Given the description of an element on the screen output the (x, y) to click on. 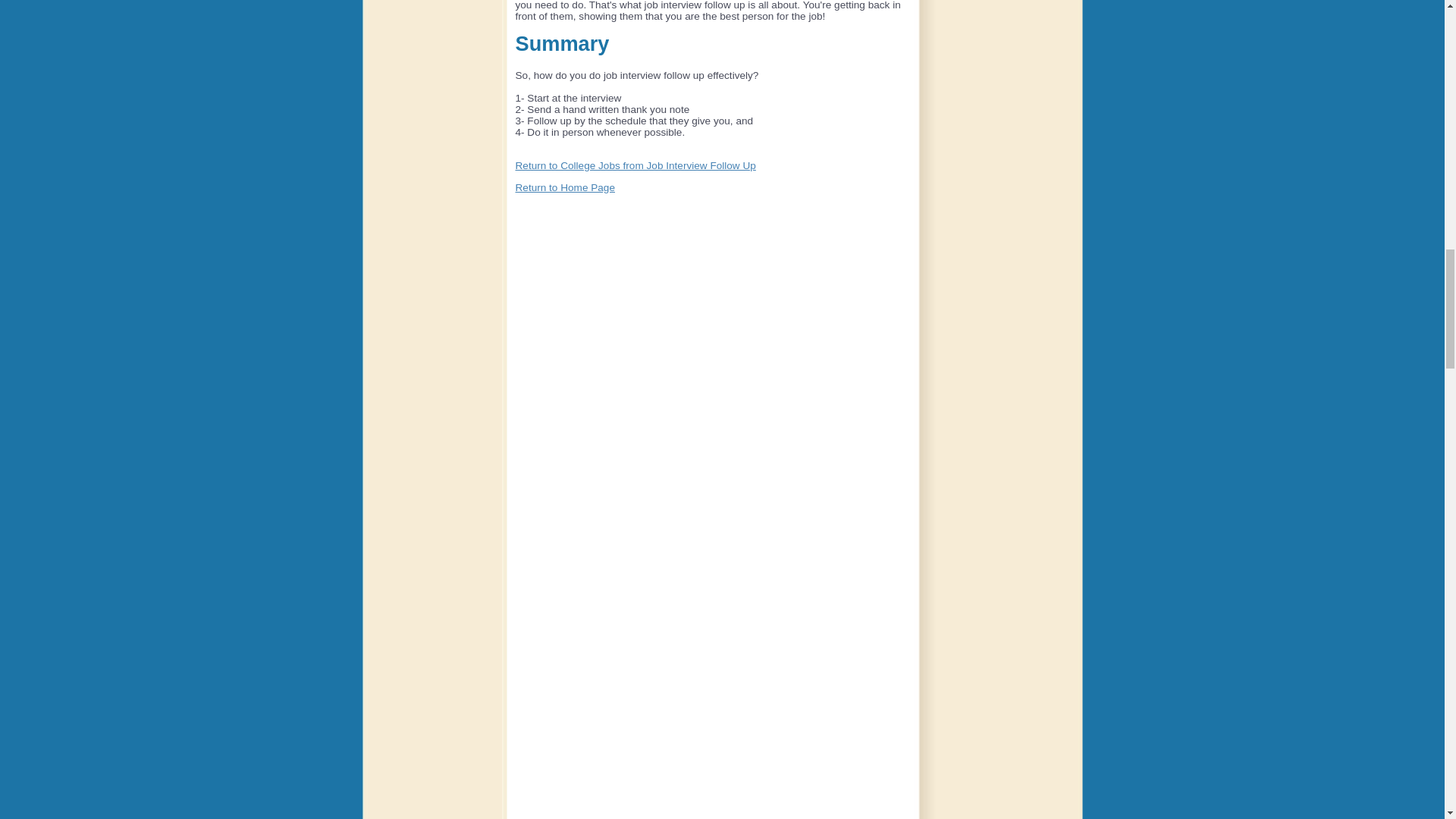
Return to Home Page (564, 187)
Return to College Jobs from Job Interview Follow Up (635, 165)
